Given the description of an element on the screen output the (x, y) to click on. 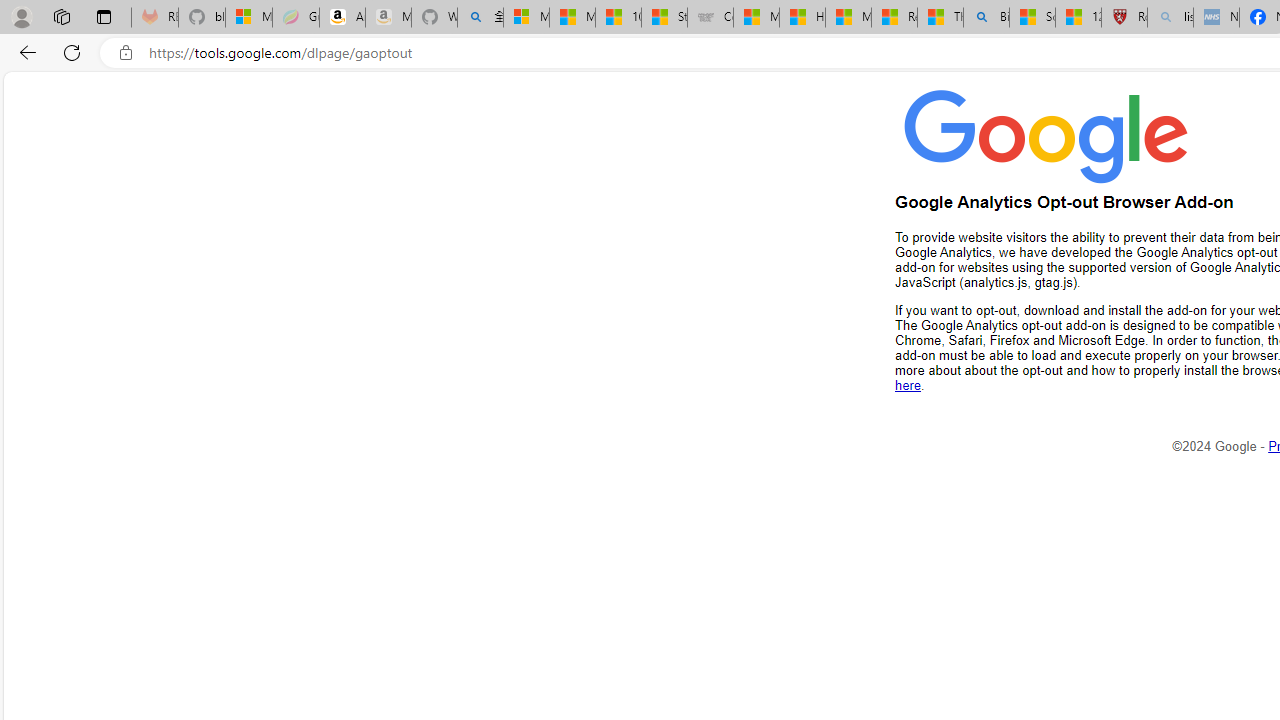
How I Got Rid of Microsoft Edge's Unnecessary Features (802, 17)
Bing (985, 17)
